Given the description of an element on the screen output the (x, y) to click on. 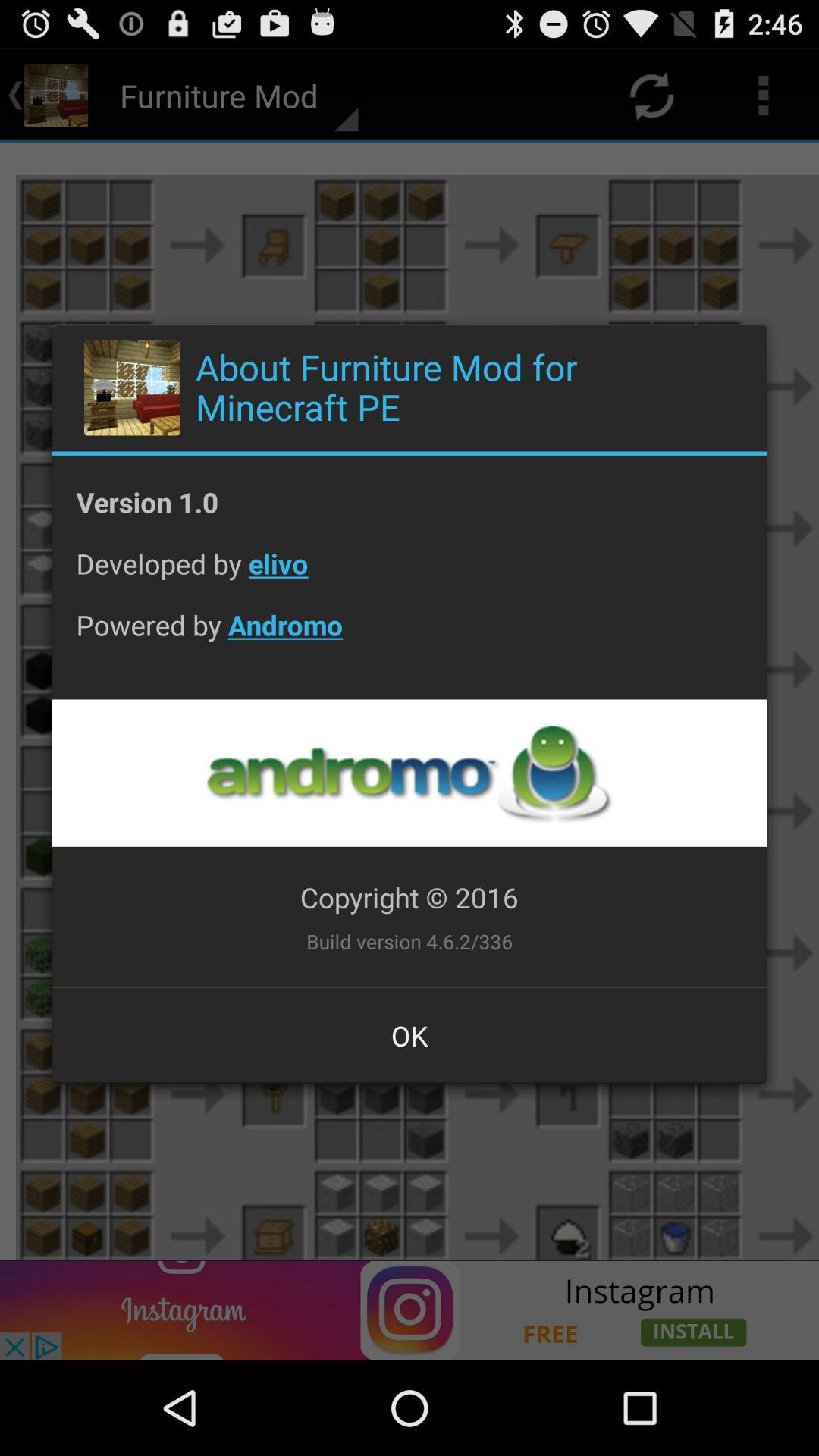
select the developed by elivo app (409, 575)
